Given the description of an element on the screen output the (x, y) to click on. 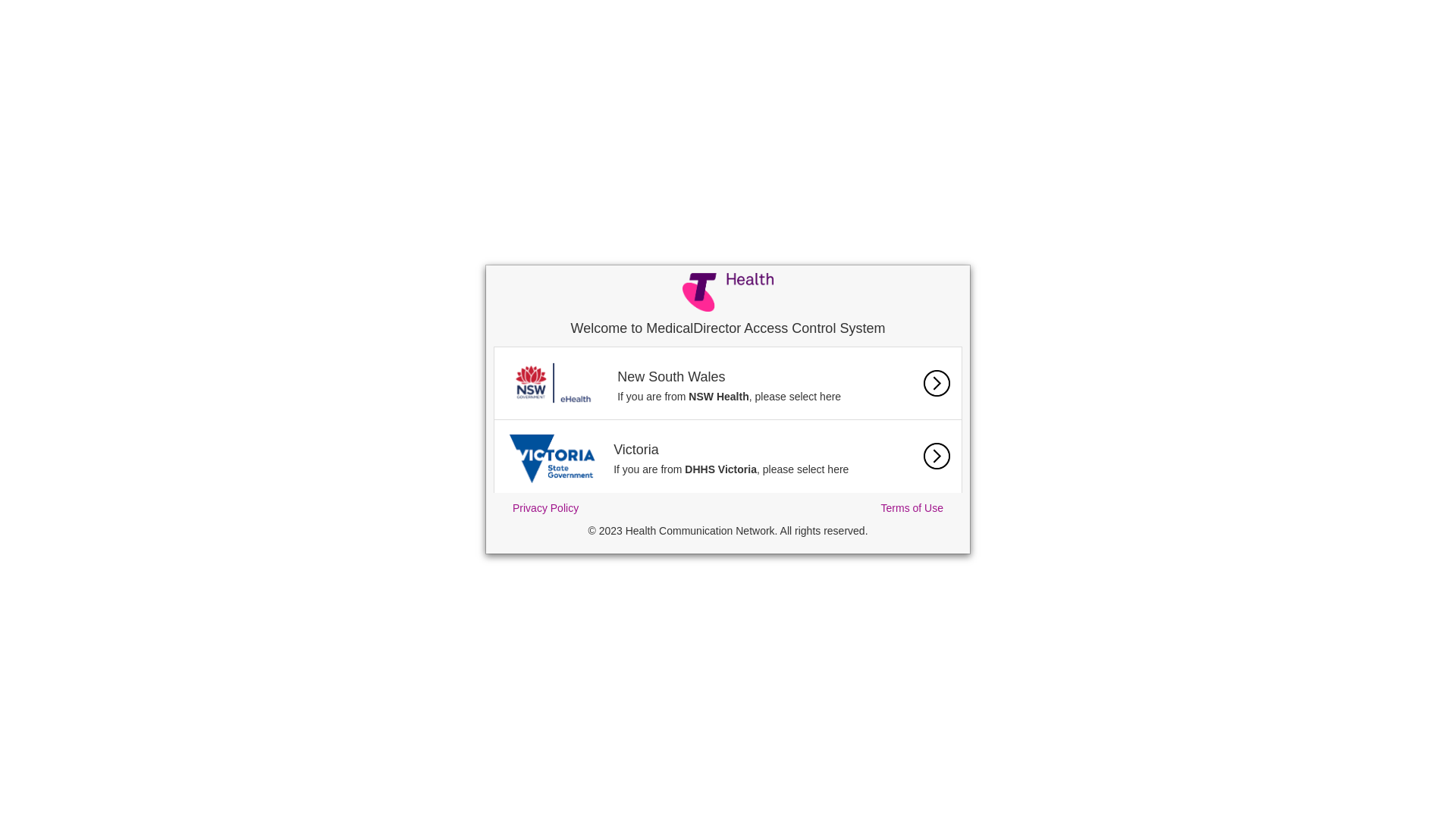
Privacy Policy Element type: text (545, 508)
Terms of Use Element type: text (912, 508)
